Given the description of an element on the screen output the (x, y) to click on. 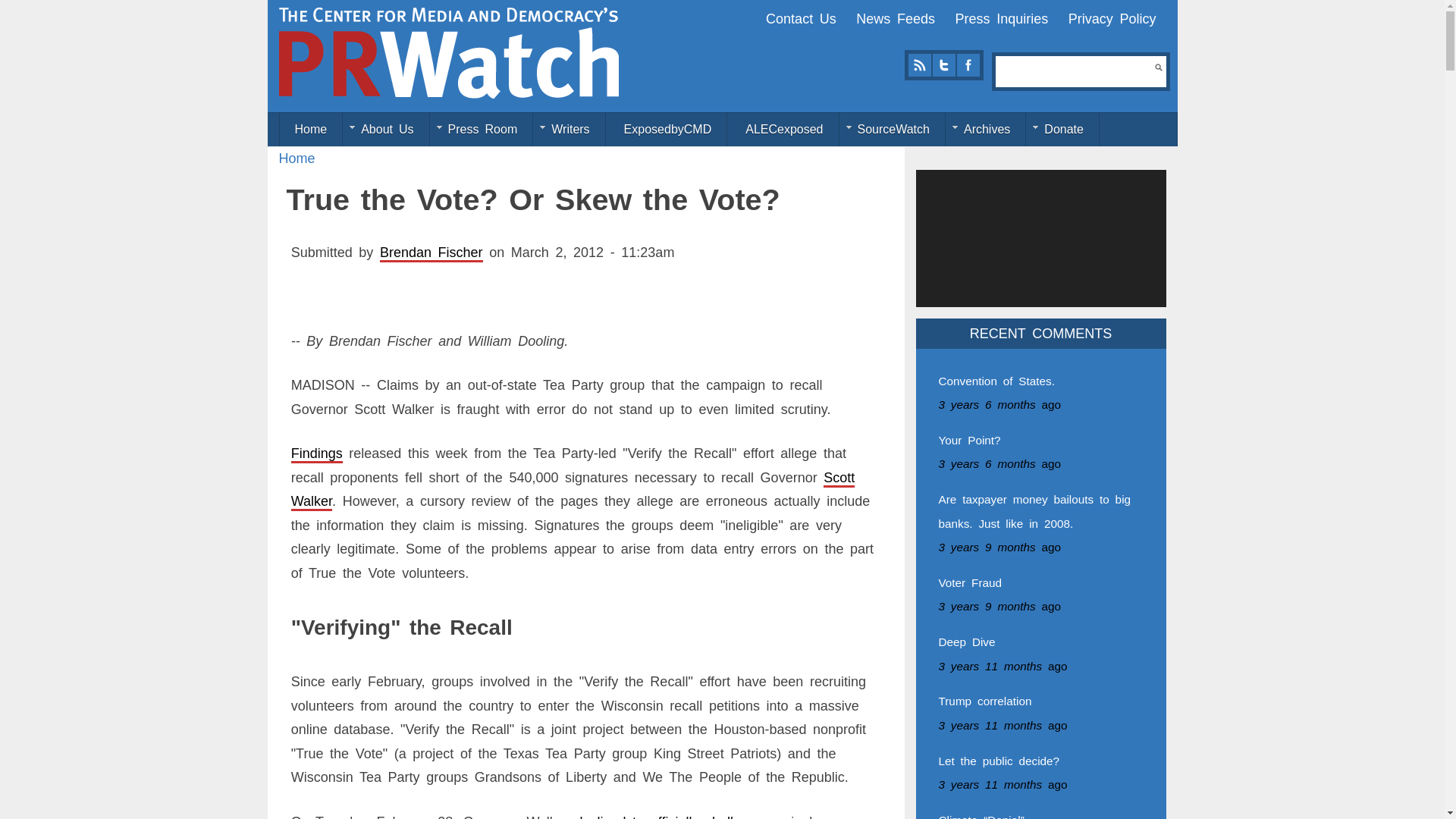
Home (297, 158)
Press Inquiries (1001, 18)
Scott Walker (573, 489)
Twitter (943, 64)
View user profile. (431, 252)
Enter the terms you wish to search for. (1074, 71)
Facebook (967, 64)
Follow CMD's Posts on Twitter (943, 64)
Subscribe to CMD's RSS Feeds (919, 64)
Privacy Policy (1112, 18)
declined to officially challenge (668, 816)
Join CMD's Facebook Page (967, 64)
Findings (316, 453)
RSS (919, 64)
News Feeds (895, 18)
